Given the description of an element on the screen output the (x, y) to click on. 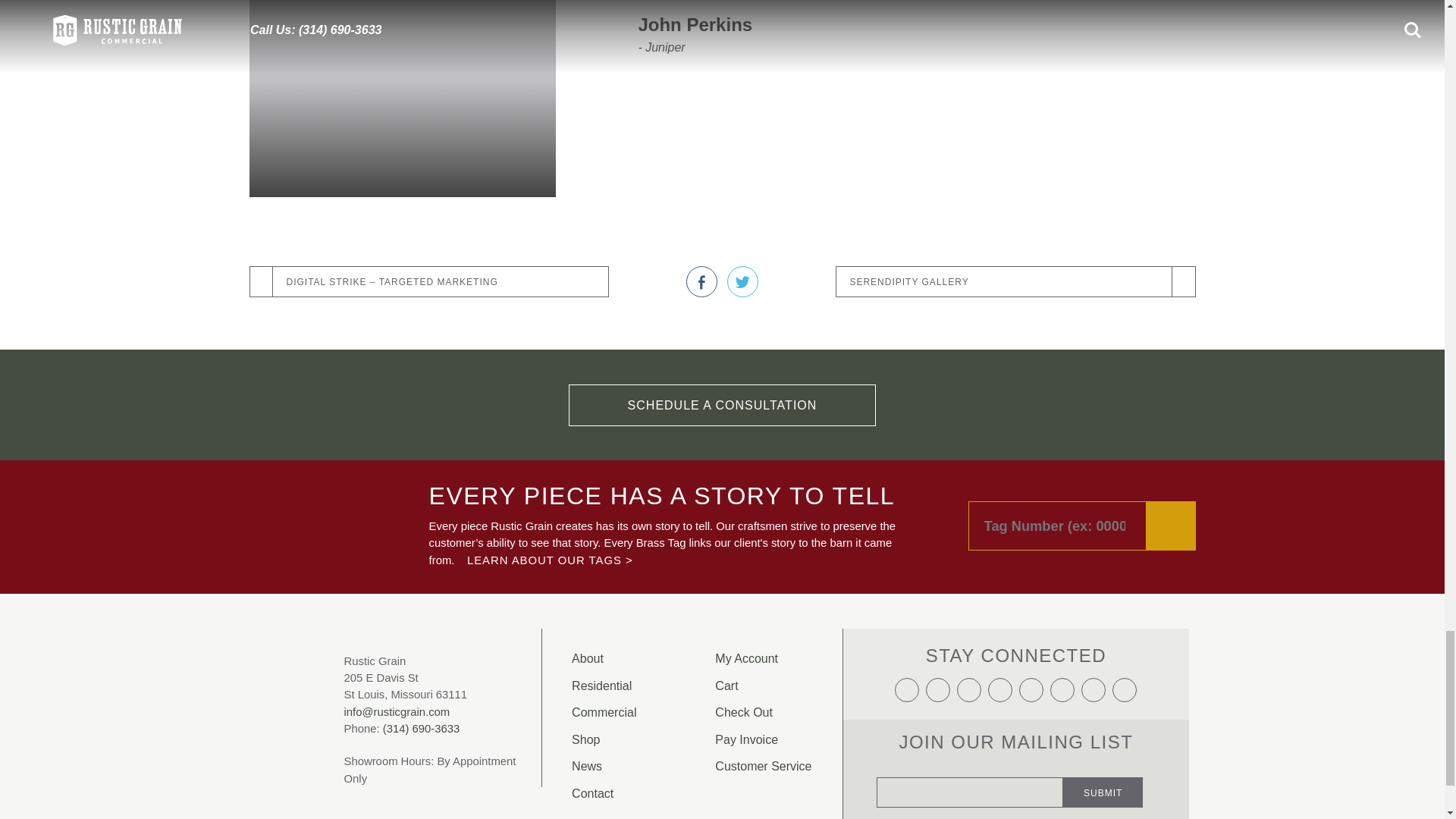
Search (1170, 525)
SERENDIPITY GALLERY (1014, 282)
Tag Search (1081, 525)
Submit (1102, 792)
Search (1170, 525)
